Given the description of an element on the screen output the (x, y) to click on. 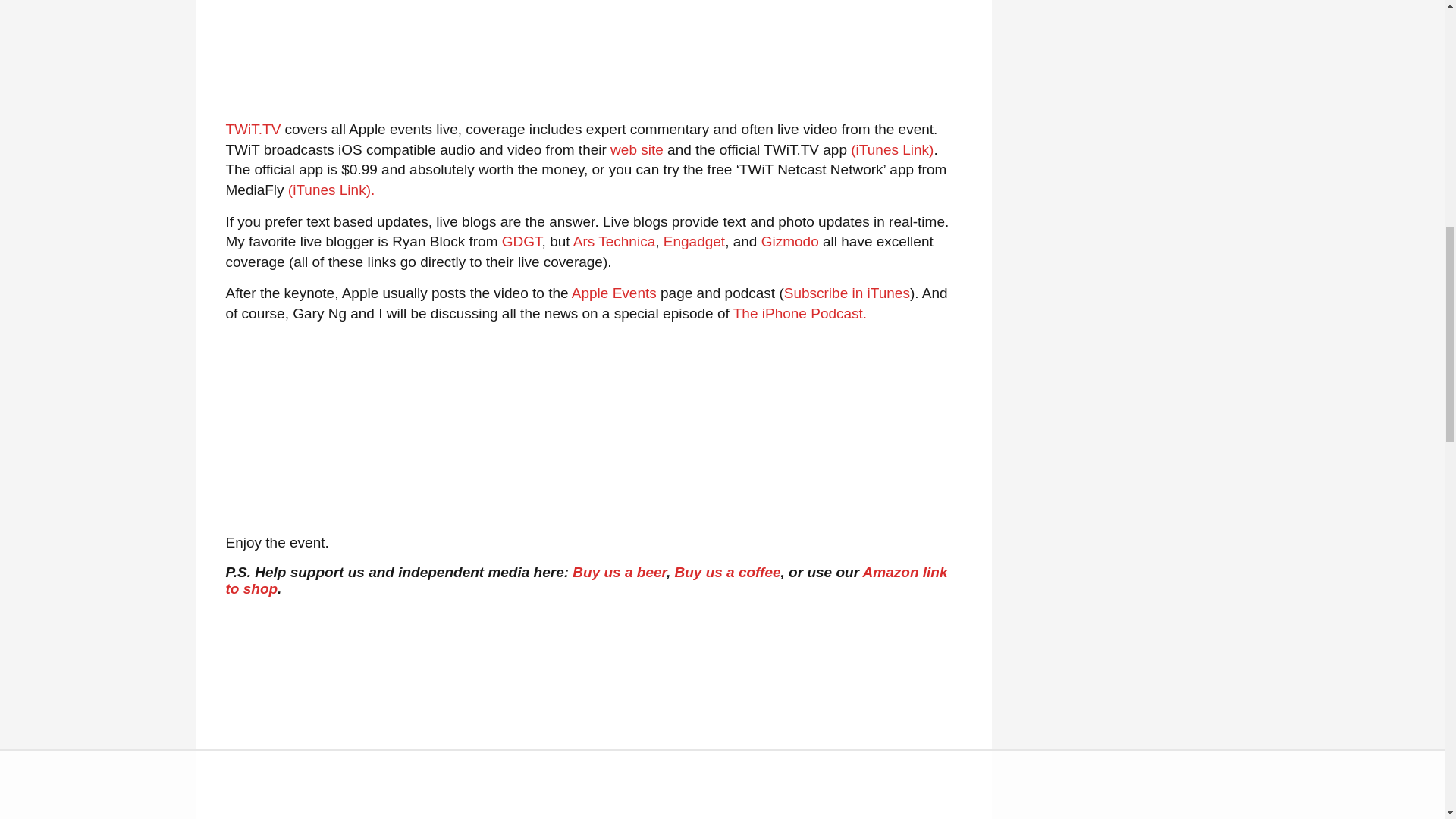
Ars Technica (614, 241)
GDGT (521, 241)
TWiT.TV (253, 129)
web site (636, 149)
Engadget (694, 241)
